Given the description of an element on the screen output the (x, y) to click on. 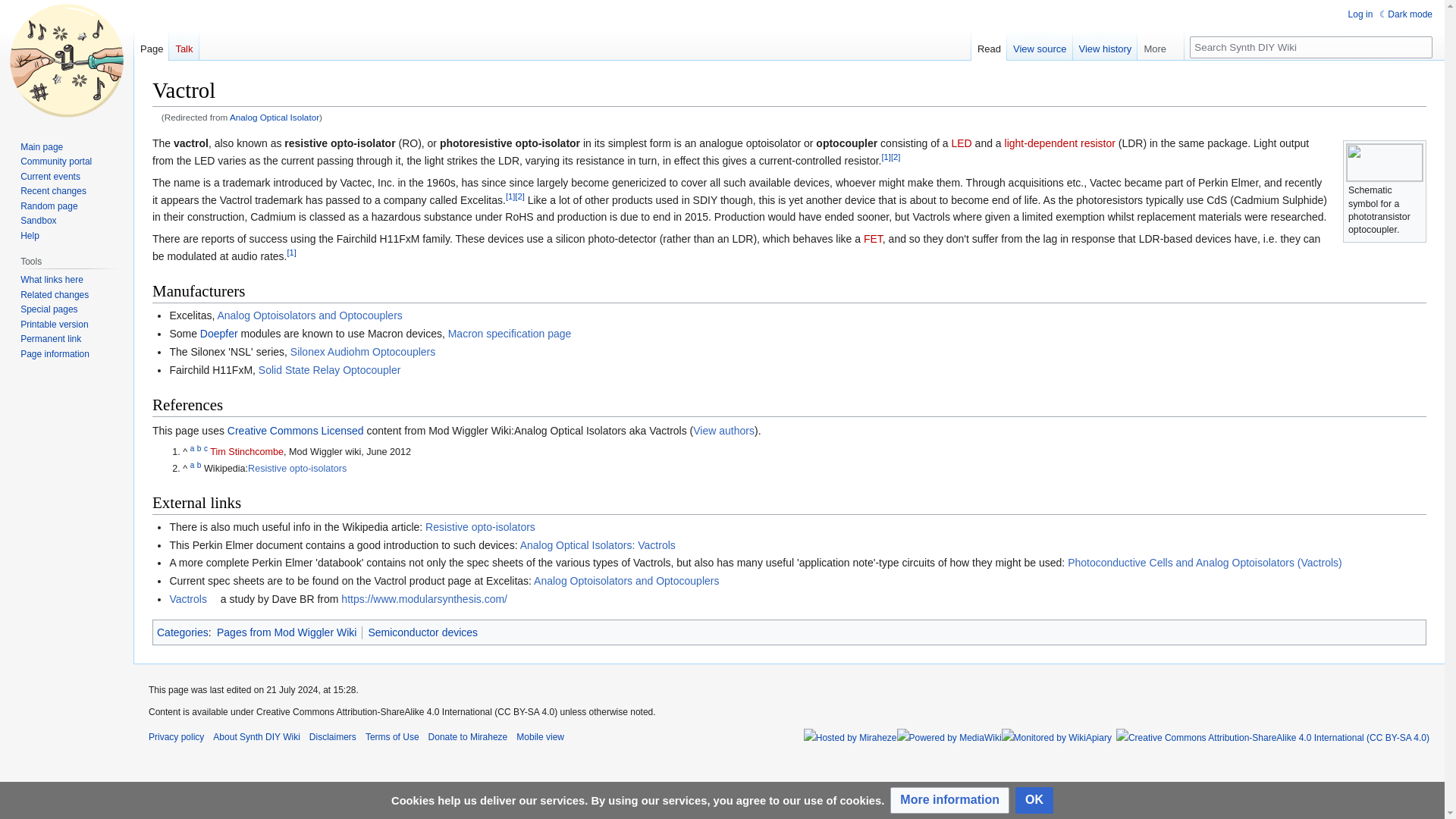
Special:Categories (182, 632)
Categories (182, 632)
Category:Semiconductor devices (422, 632)
Search the pages for this text (1420, 46)
View authors (723, 430)
Analog Optical Isolator (274, 117)
Go (1420, 46)
Go (1420, 46)
Silonex Audiohm Optocouplers (367, 351)
Category:Pages from Mod Wiggler Wiki (286, 632)
